Given the description of an element on the screen output the (x, y) to click on. 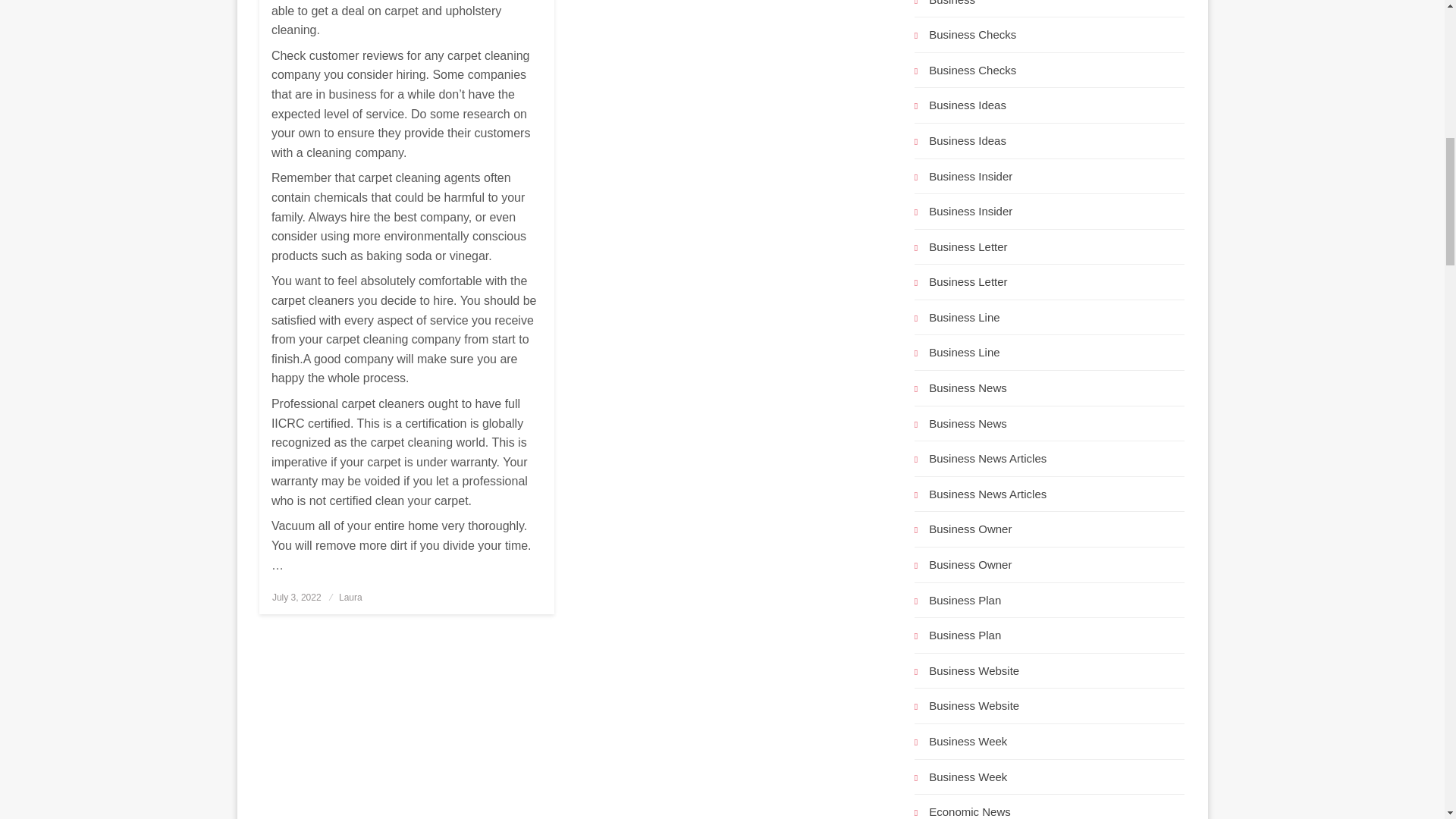
Laura (350, 597)
July 3, 2022 (296, 597)
Laura (350, 597)
